Given the description of an element on the screen output the (x, y) to click on. 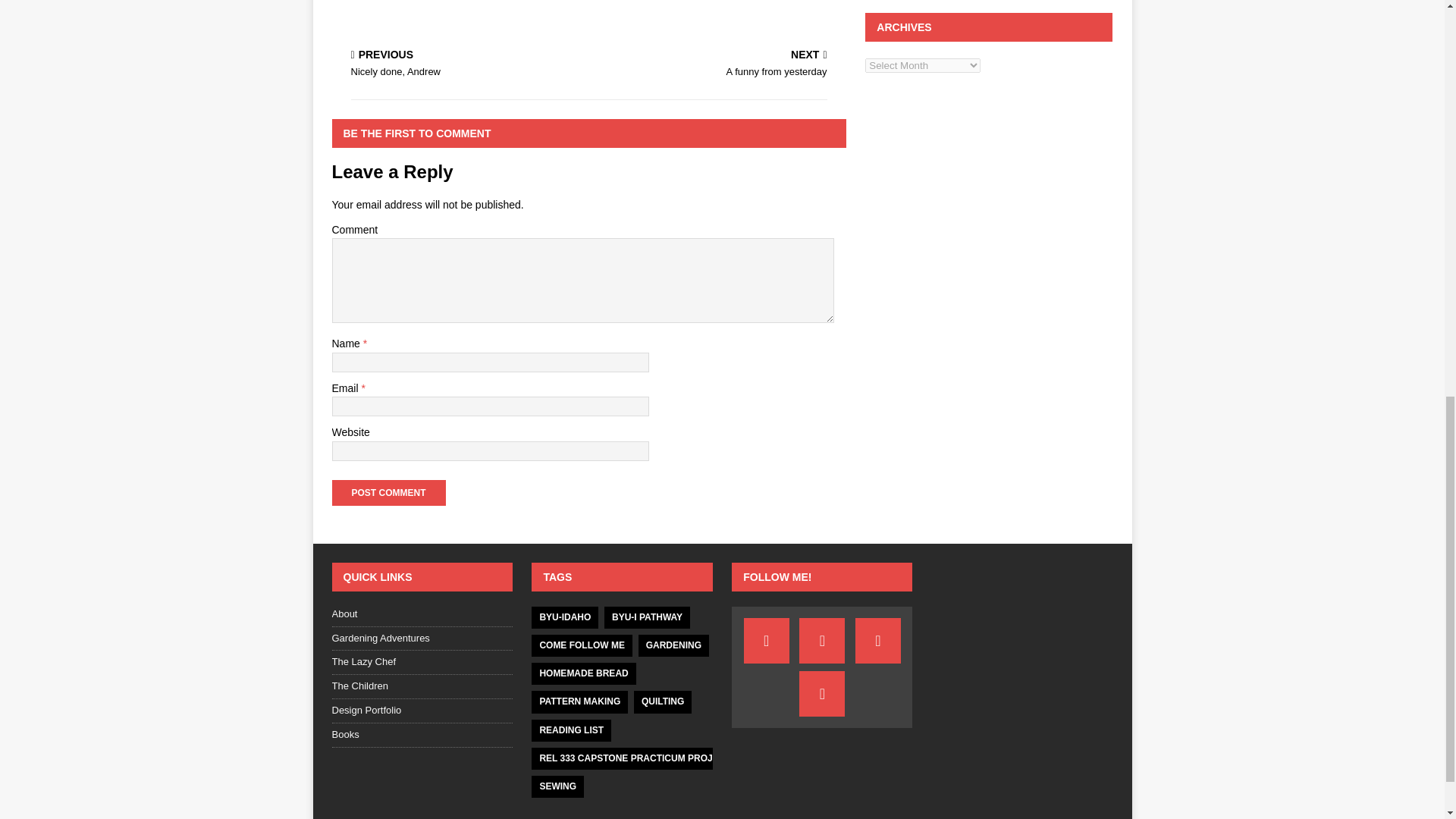
Post Comment (388, 492)
Post Comment (710, 64)
